Given the description of an element on the screen output the (x, y) to click on. 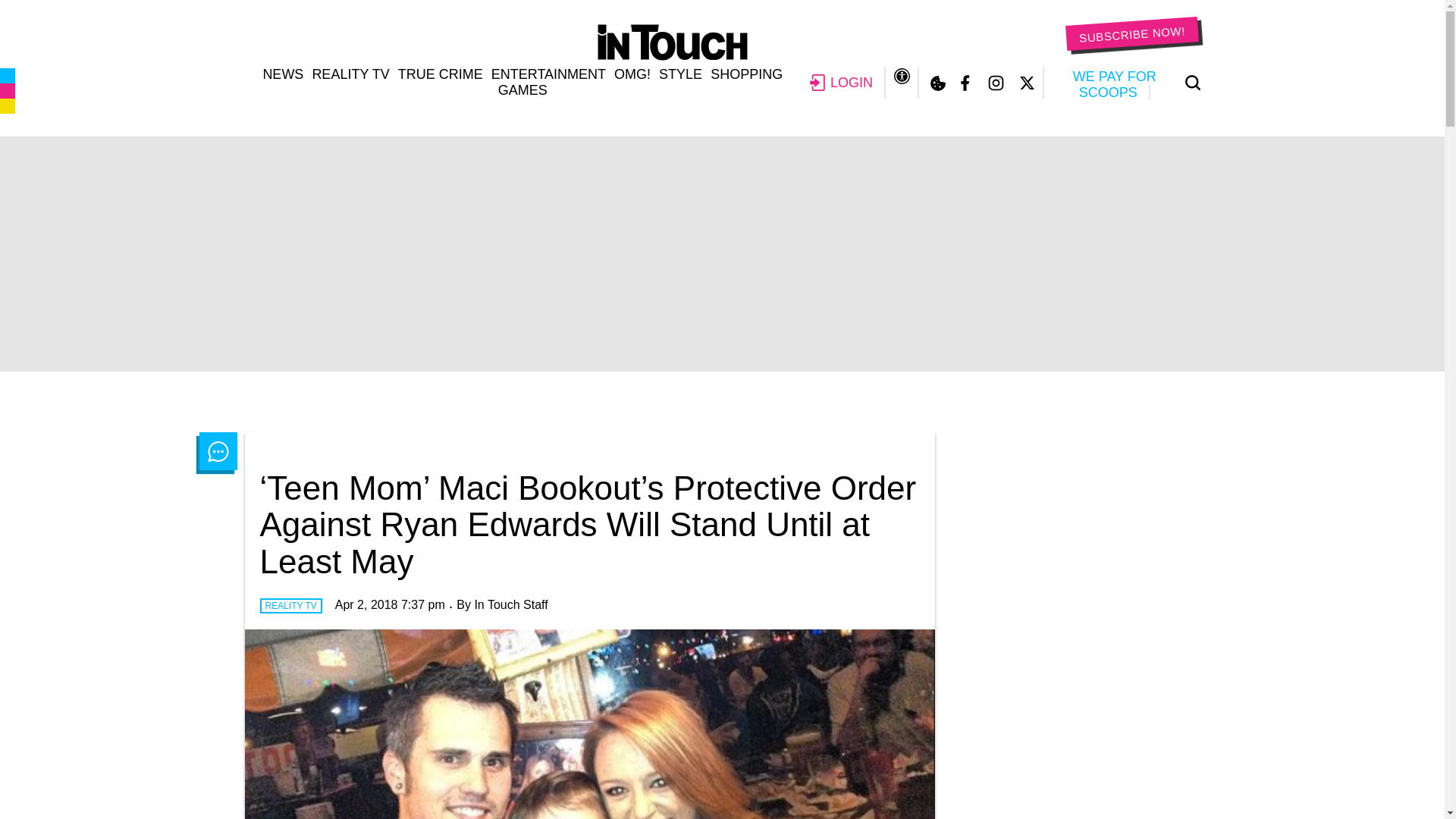
Posts by In Touch Staff (510, 604)
